Given the description of an element on the screen output the (x, y) to click on. 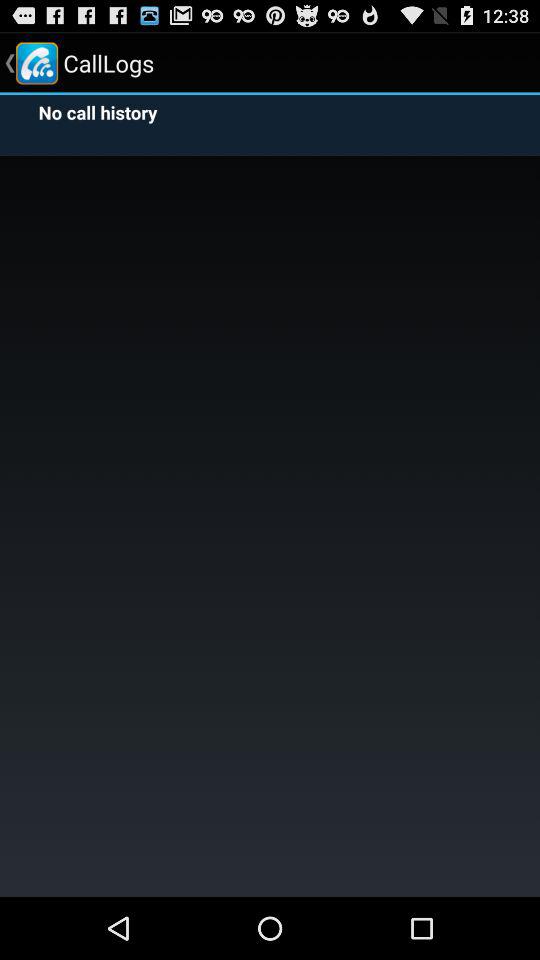
click no call history item (93, 111)
